Given the description of an element on the screen output the (x, y) to click on. 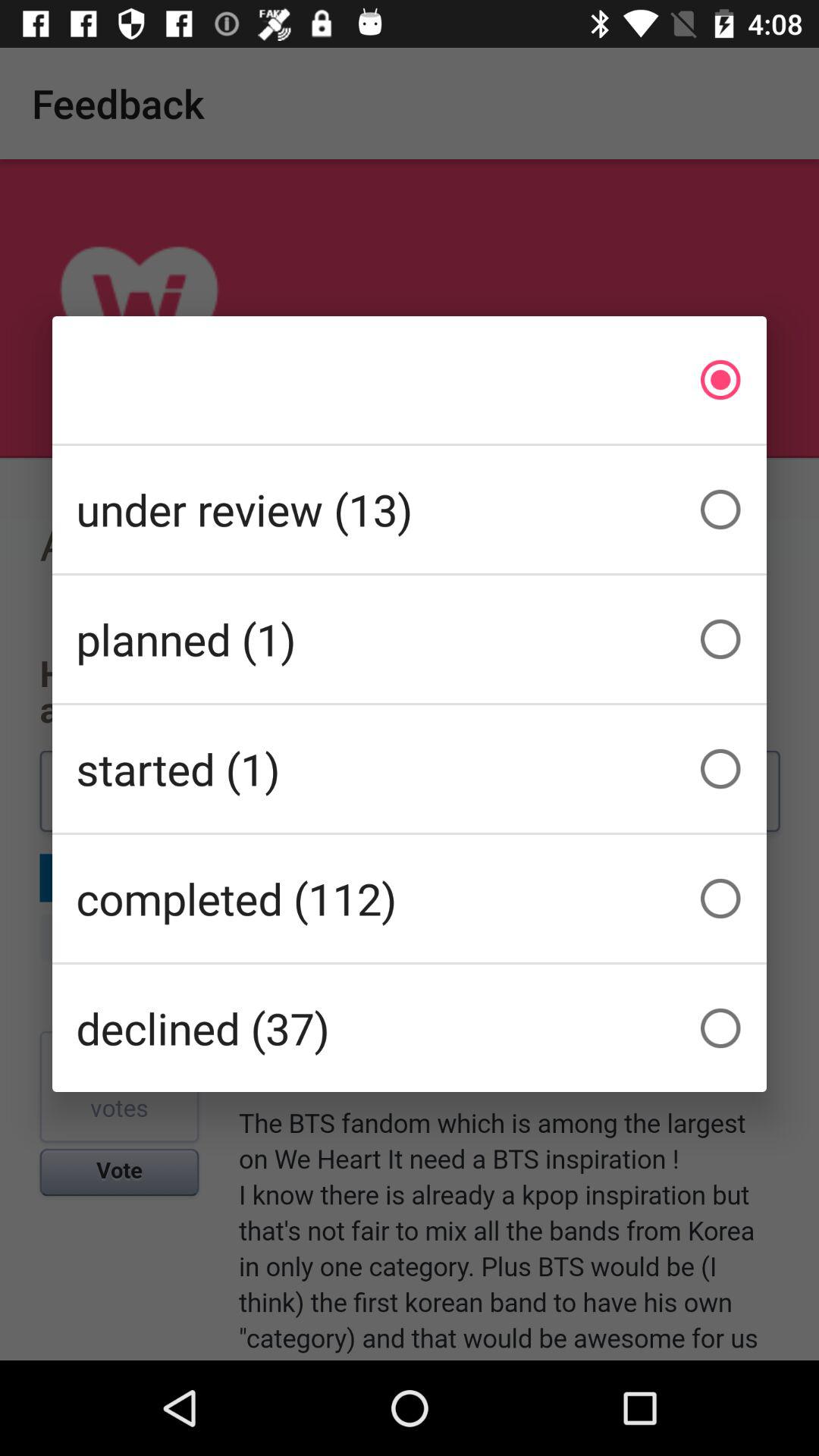
tap the completed (112) item (409, 898)
